Given the description of an element on the screen output the (x, y) to click on. 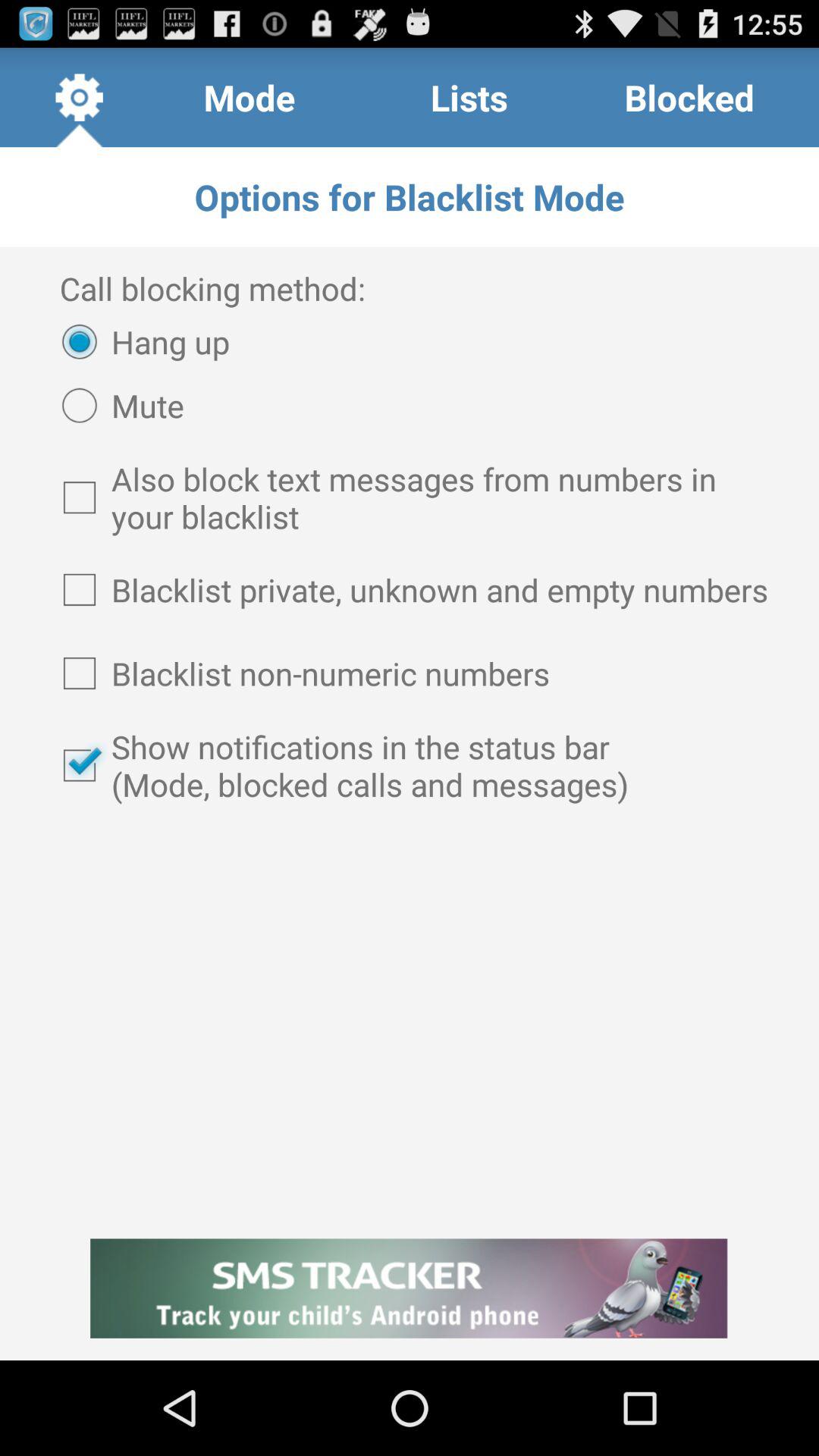
choose the lists icon (469, 97)
